Given the description of an element on the screen output the (x, y) to click on. 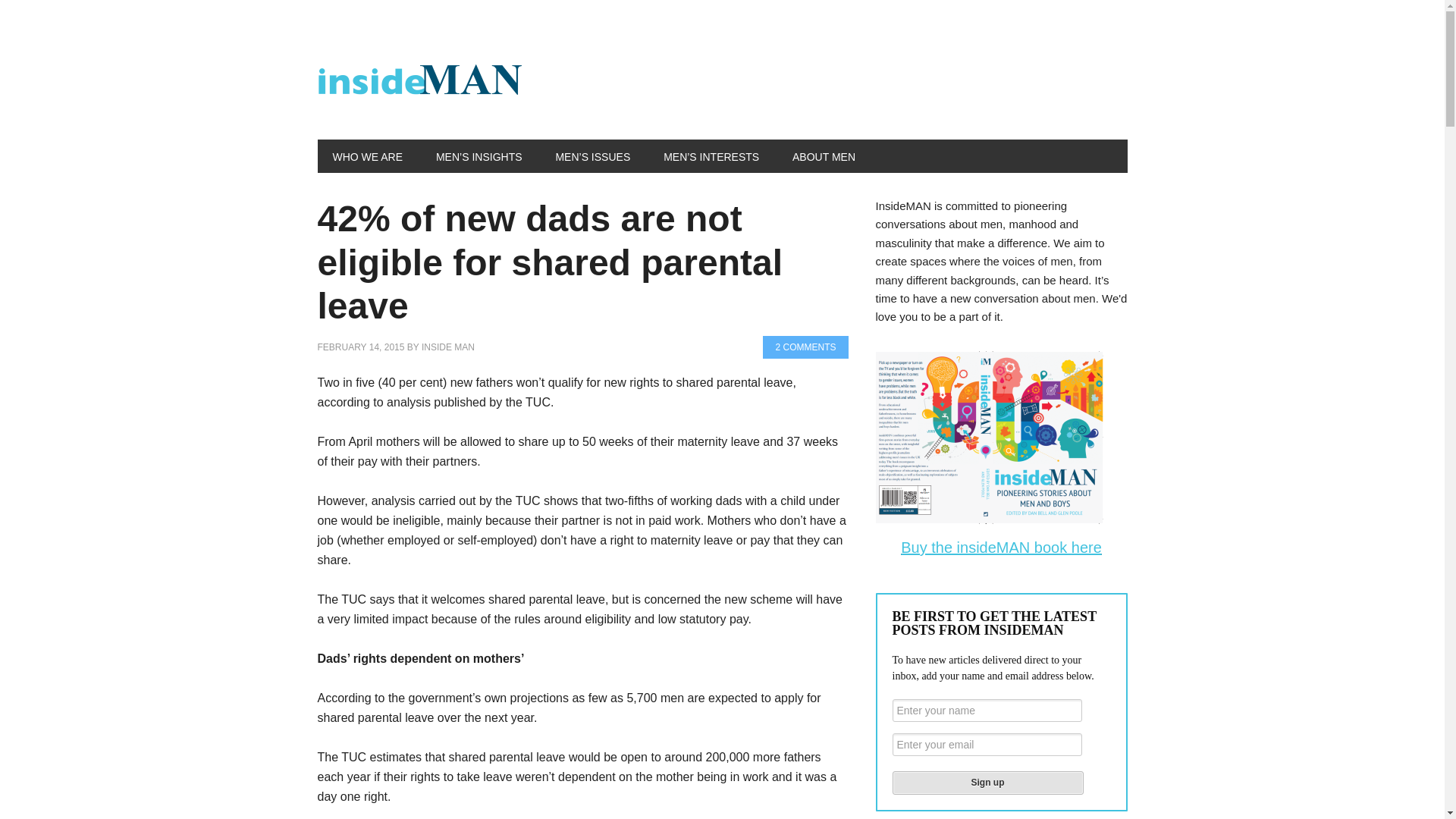
INSIDEMAN (419, 81)
ABOUT MEN (823, 155)
Sign up (987, 782)
WHO WE ARE (367, 155)
2 COMMENTS (804, 346)
INSIDE MAN (448, 347)
